Given the description of an element on the screen output the (x, y) to click on. 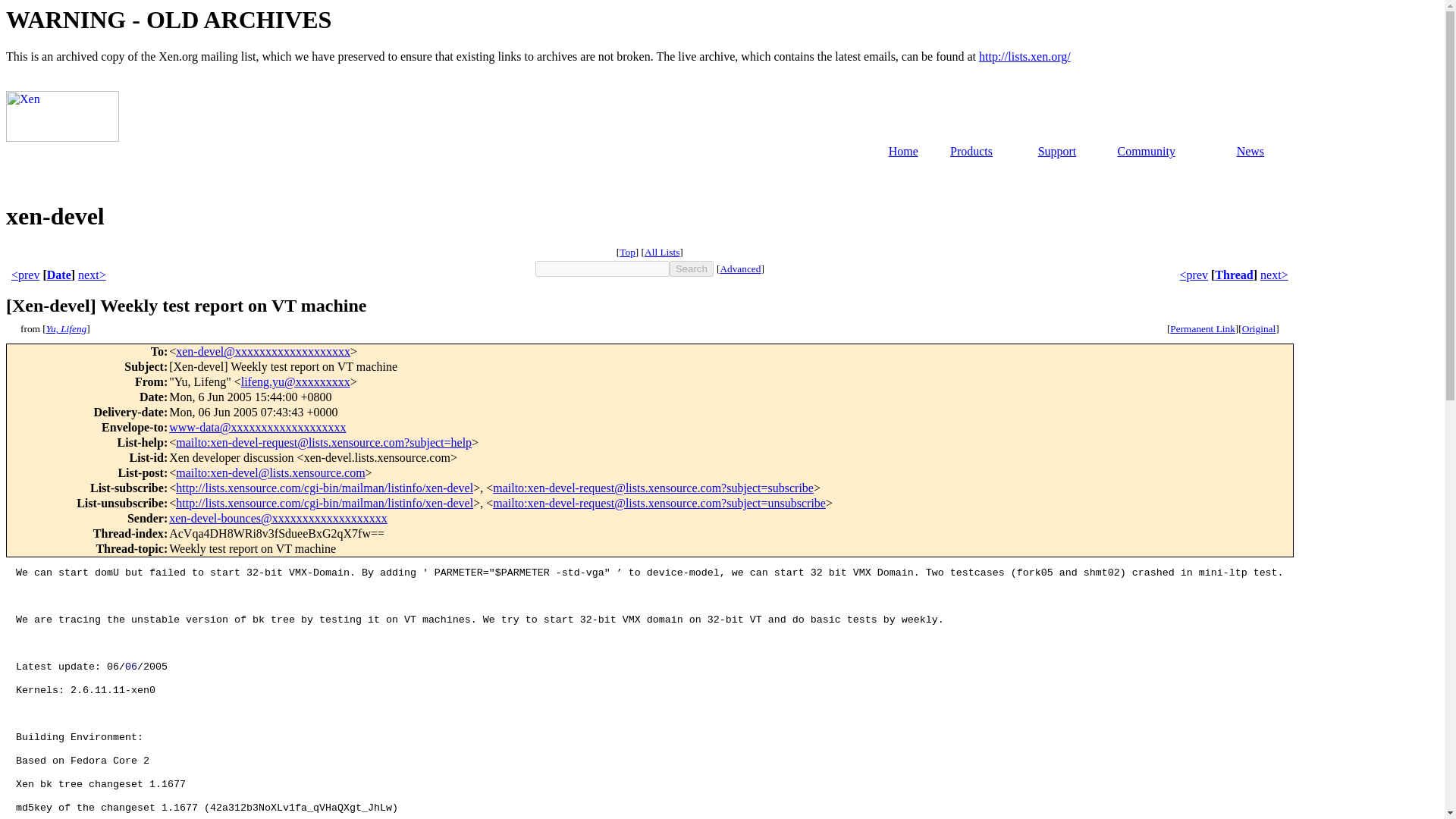
Products (971, 151)
Support (1057, 151)
Community (1145, 151)
Search (691, 268)
Advanced (739, 268)
Date (58, 274)
Search (691, 268)
Home (903, 151)
Permanent Link (1202, 328)
Yu, Lifeng (66, 328)
